Given the description of an element on the screen output the (x, y) to click on. 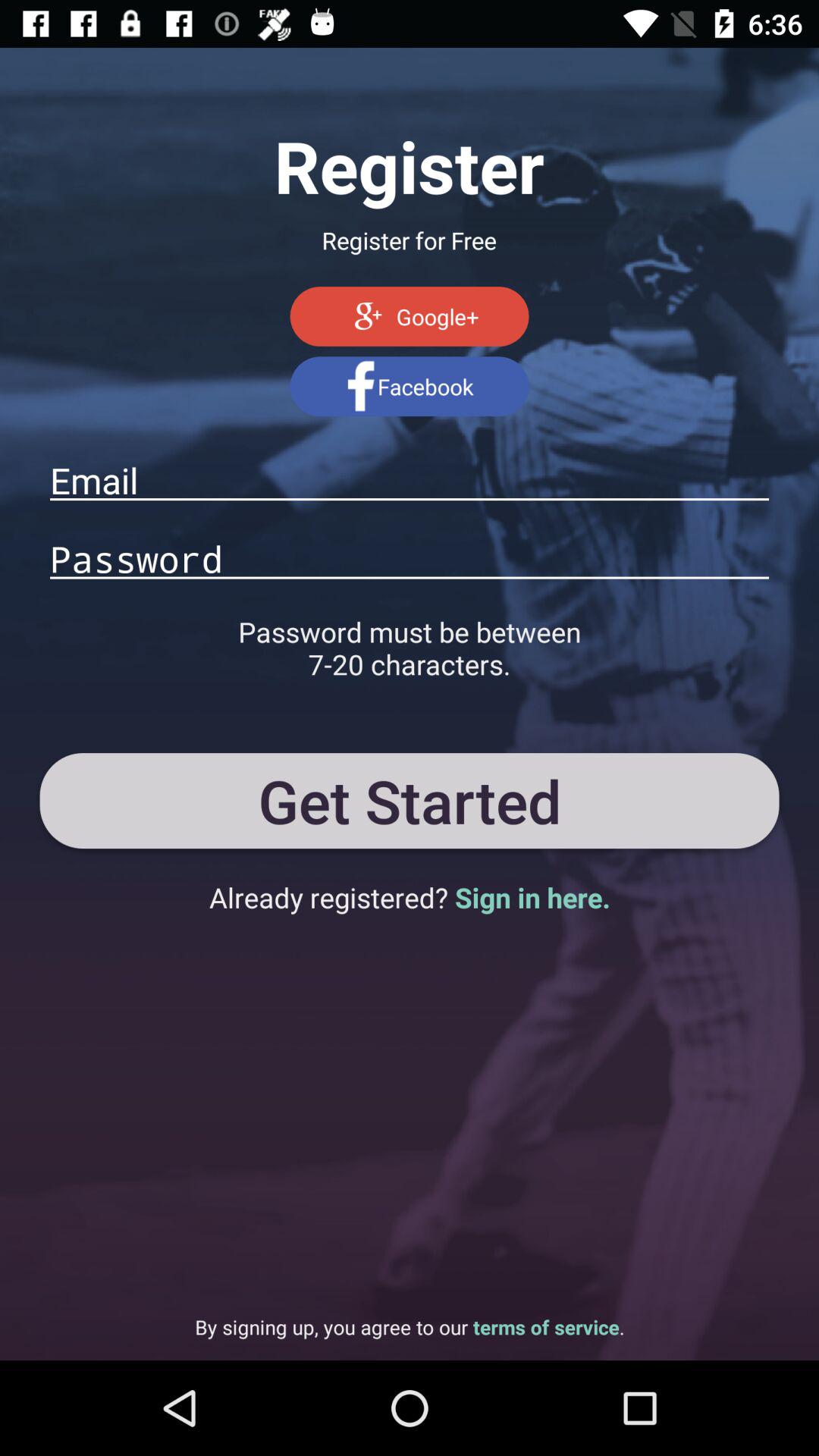
input password (409, 558)
